Given the description of an element on the screen output the (x, y) to click on. 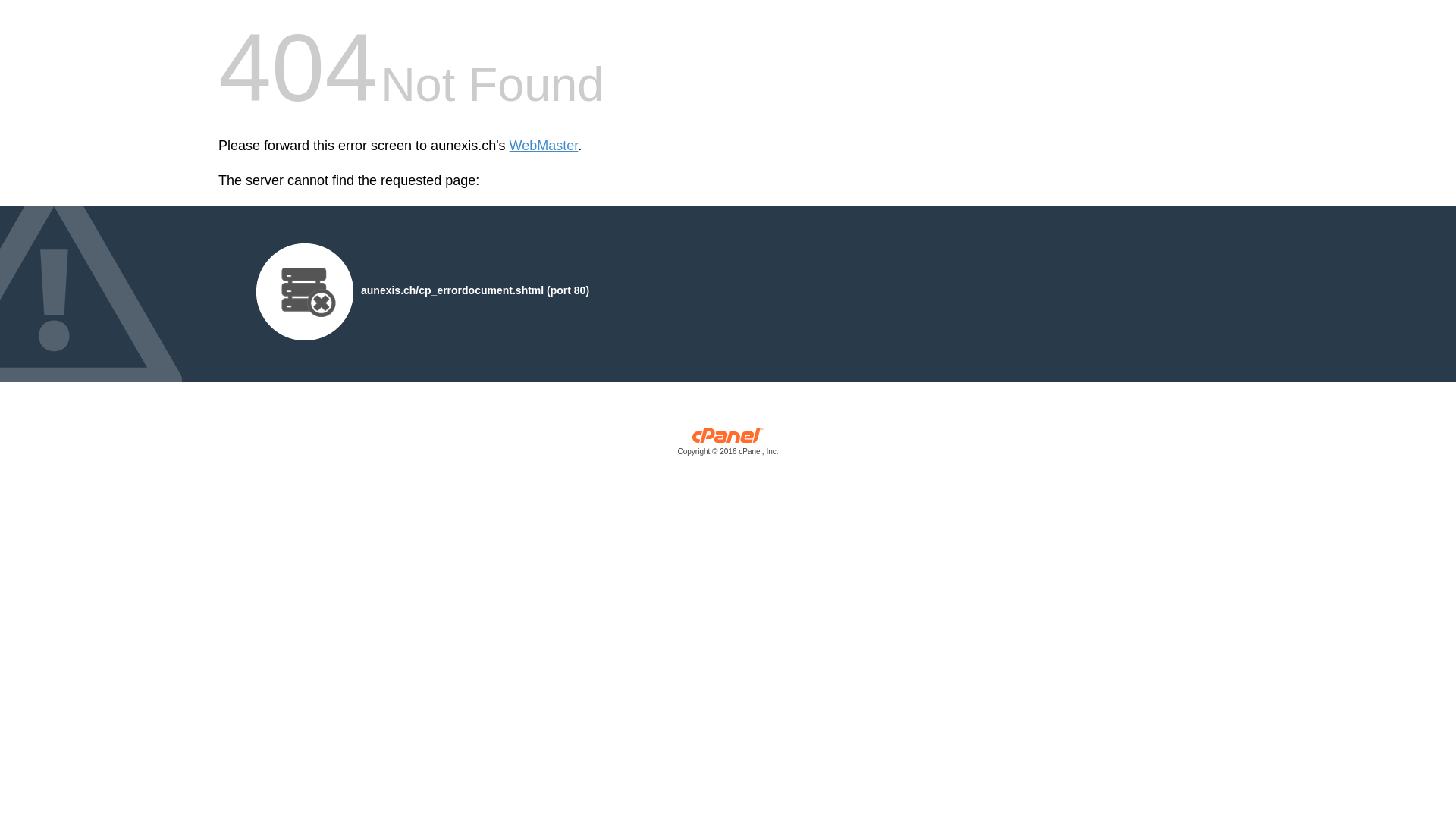
WebMaster Element type: text (543, 145)
